Given the description of an element on the screen output the (x, y) to click on. 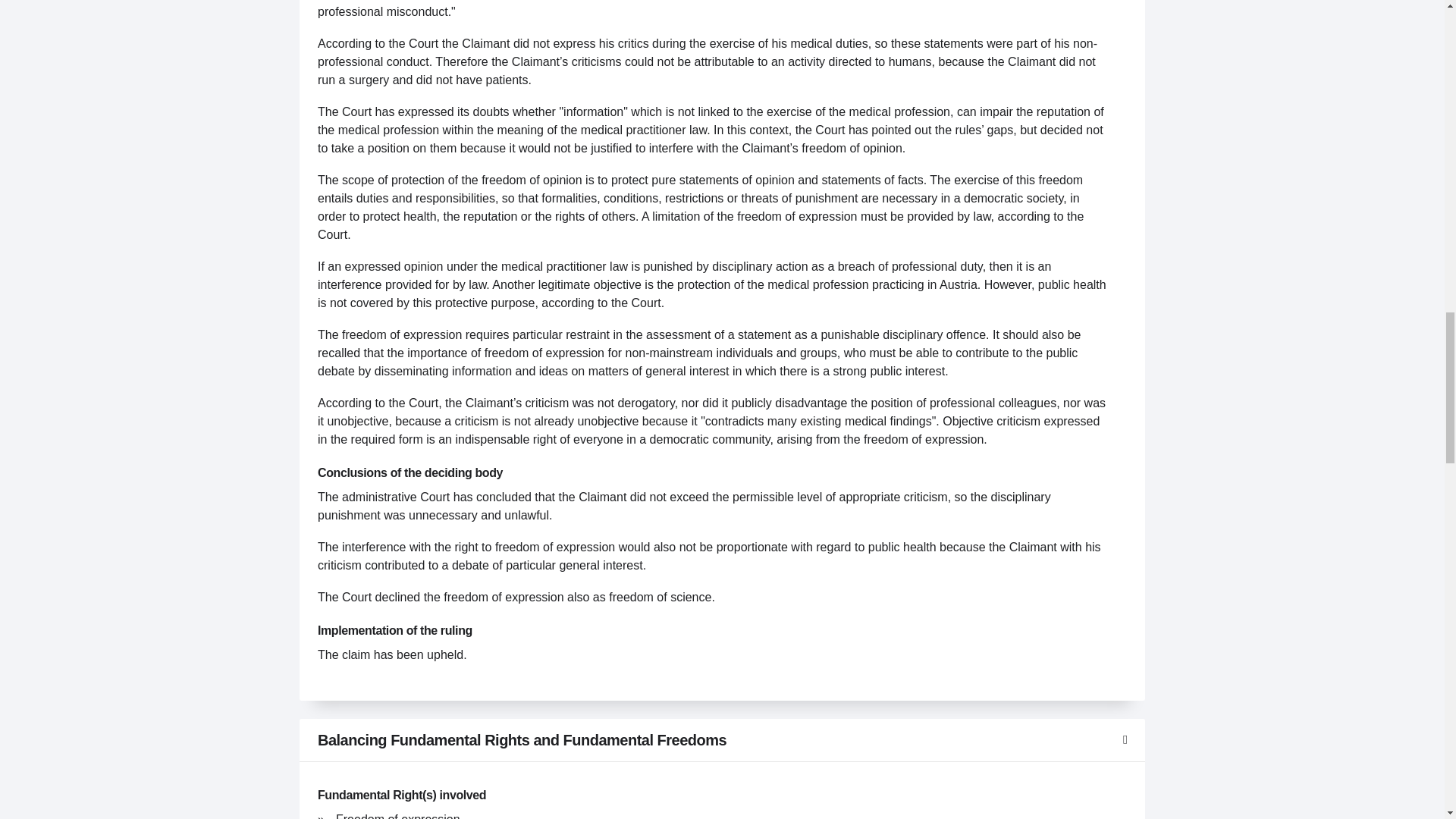
Balancing Fundamental Rights and Fundamental Freedoms (721, 740)
